Given the description of an element on the screen output the (x, y) to click on. 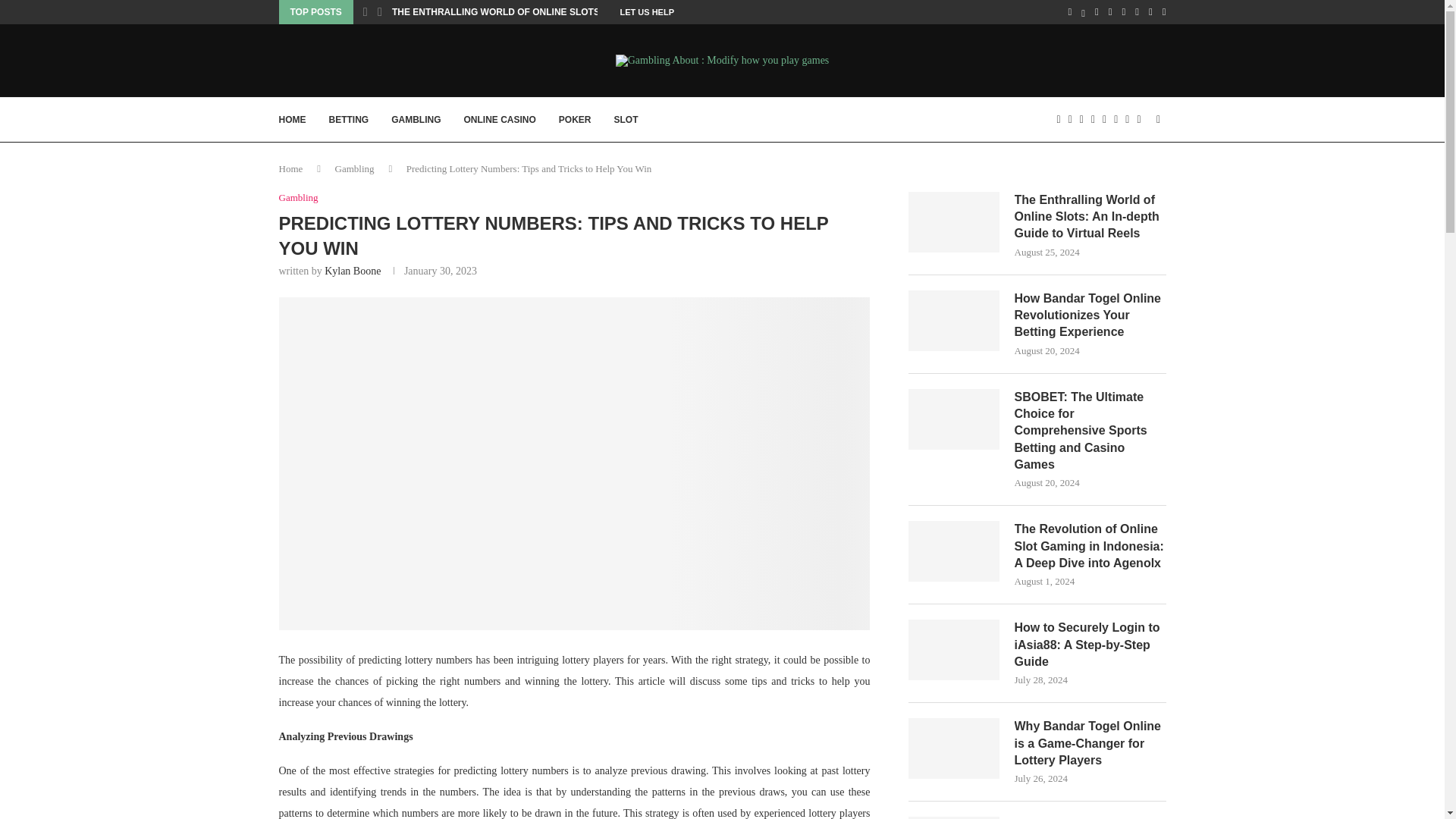
BETTING (349, 119)
ONLINE CASINO (499, 119)
Home (290, 168)
LET US HELP (647, 12)
THE ENTHRALLING WORLD OF ONLINE SLOTS: AN IN-DEPTH... (531, 12)
GAMBLING (416, 119)
